Given the description of an element on the screen output the (x, y) to click on. 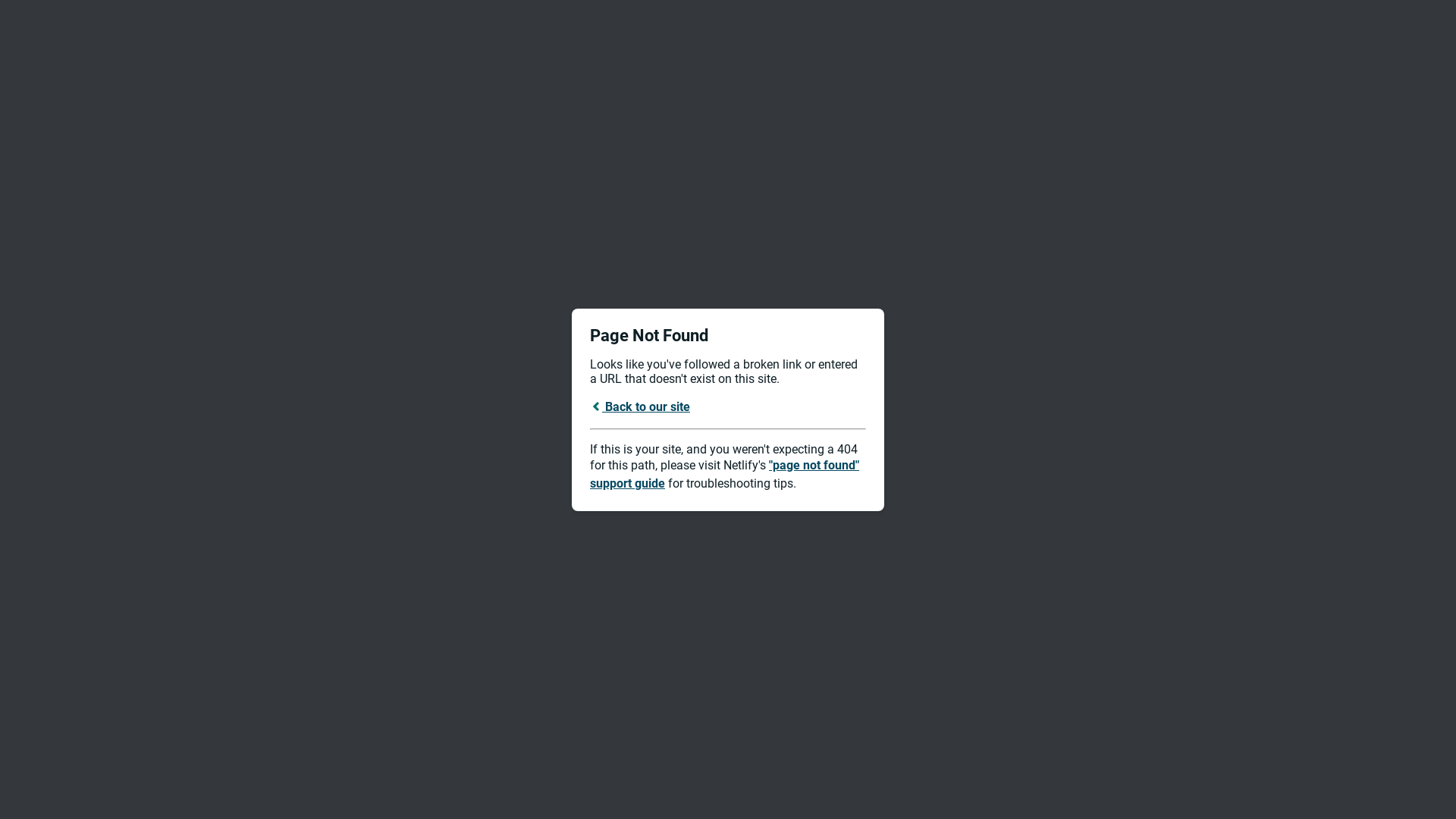
Back to our site Element type: text (639, 405)
"page not found" support guide Element type: text (724, 474)
